Given the description of an element on the screen output the (x, y) to click on. 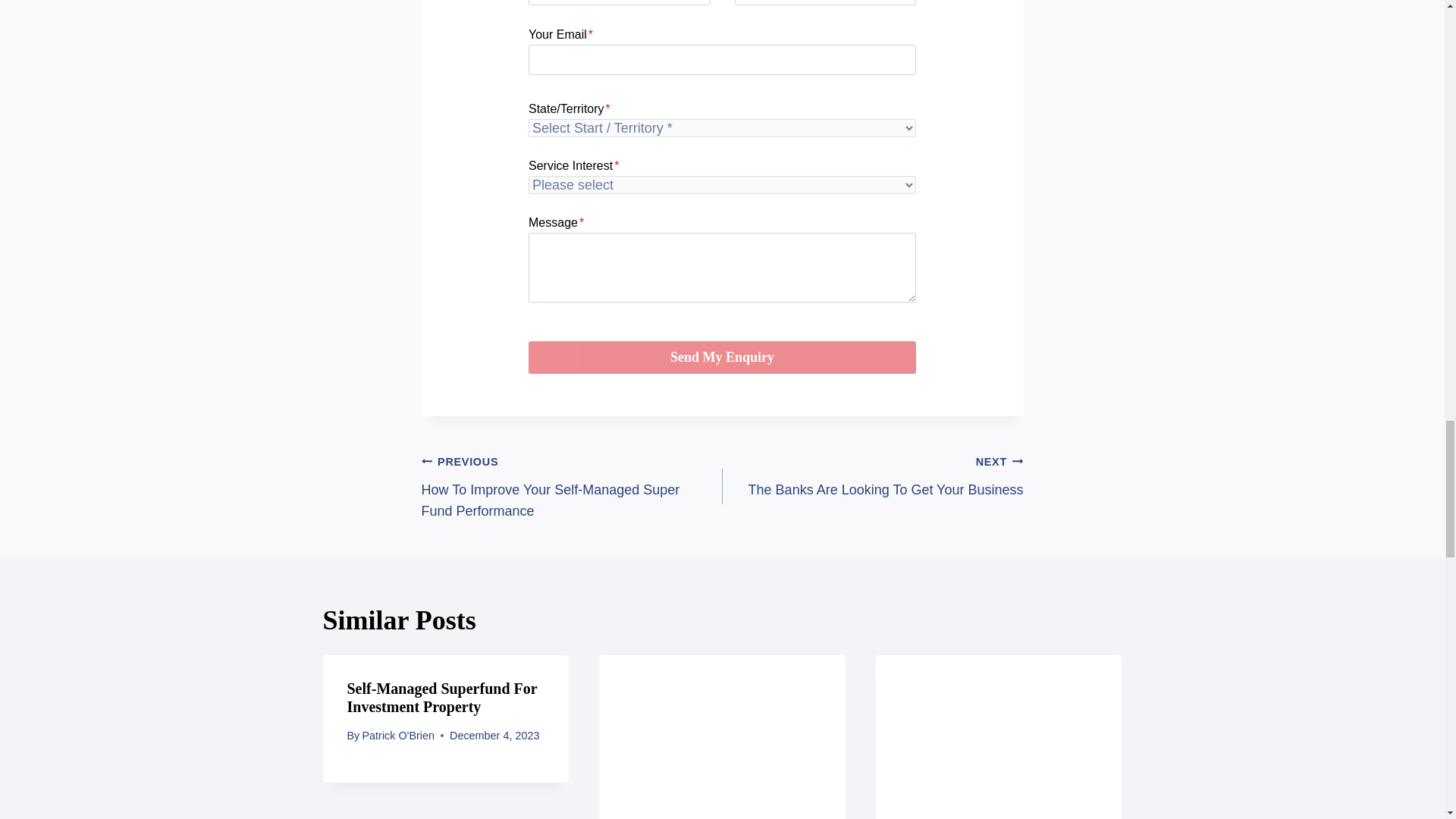
Self-Managed Superfund For Investment Property (442, 697)
Patrick O'Brien (397, 735)
Send My Enquiry (872, 475)
